Given the description of an element on the screen output the (x, y) to click on. 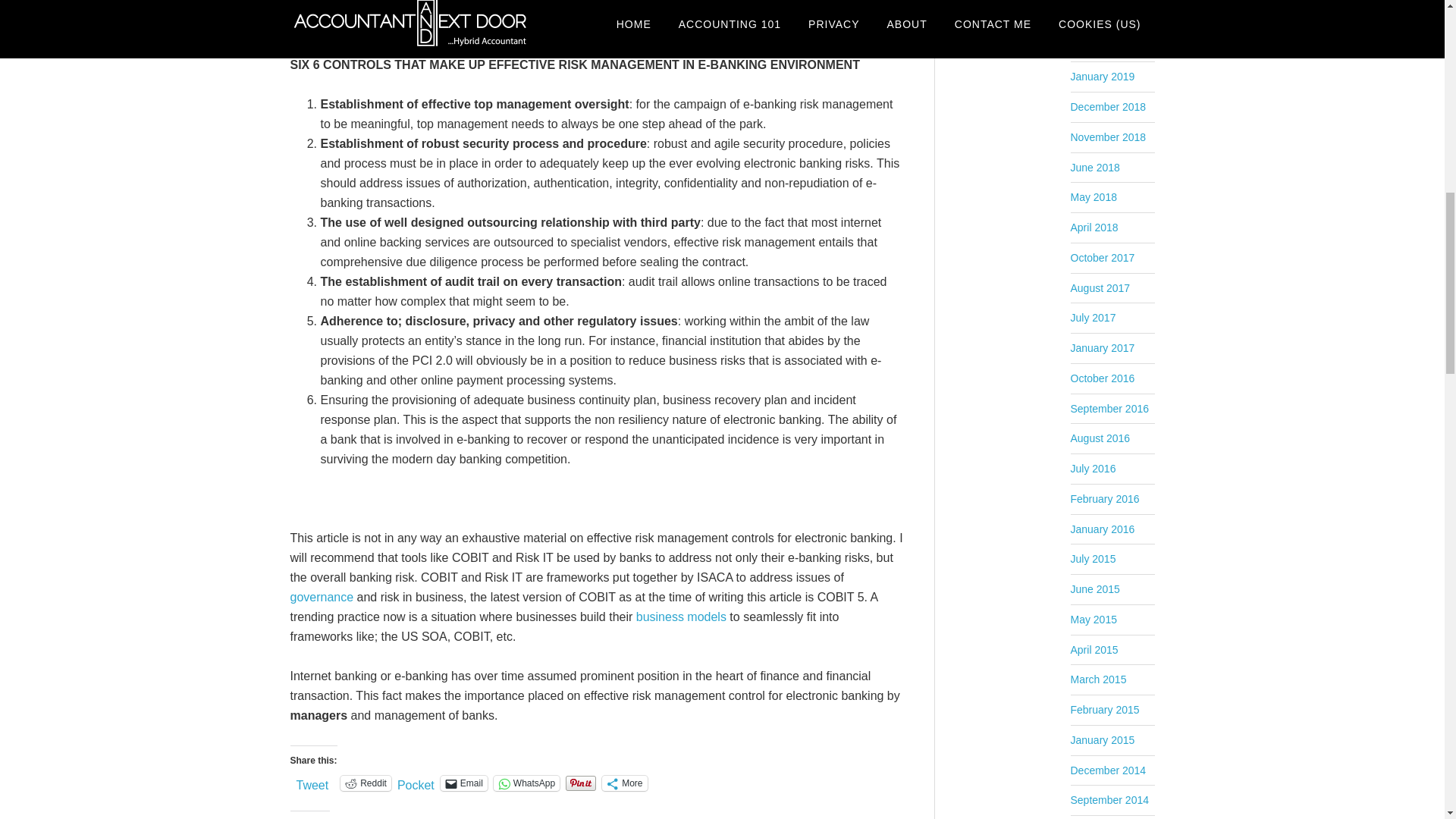
Pocket (415, 784)
What is Corporate Governance? (321, 596)
operational managers (348, 24)
governance (321, 596)
Tweet (312, 782)
business models (681, 616)
Click to email a link to a friend (464, 783)
Reddit (365, 783)
WHAT IS A BUSINESS? HOW TO BUILD A BUSINESS MODEL THAT WORKS (681, 616)
Click to share on Reddit (365, 783)
